Given the description of an element on the screen output the (x, y) to click on. 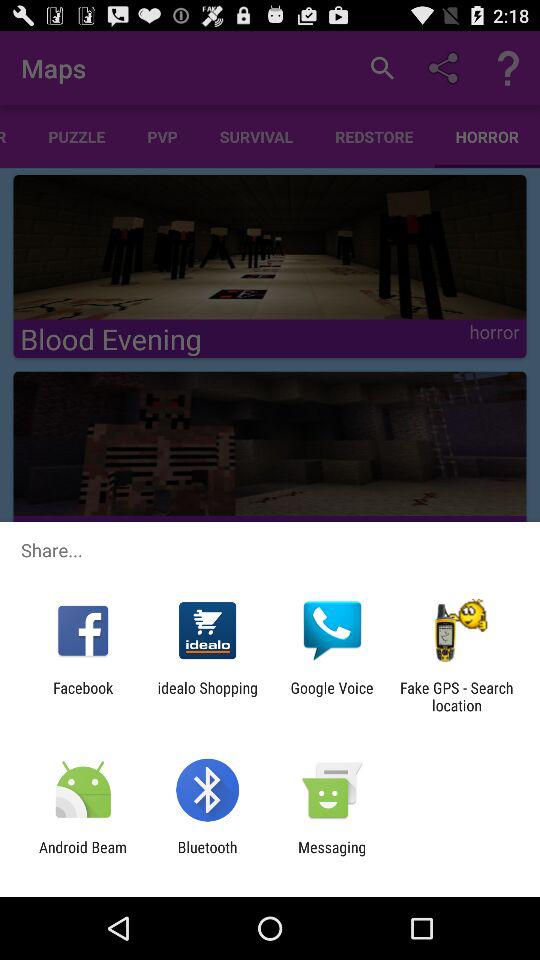
choose icon at the bottom right corner (456, 696)
